Given the description of an element on the screen output the (x, y) to click on. 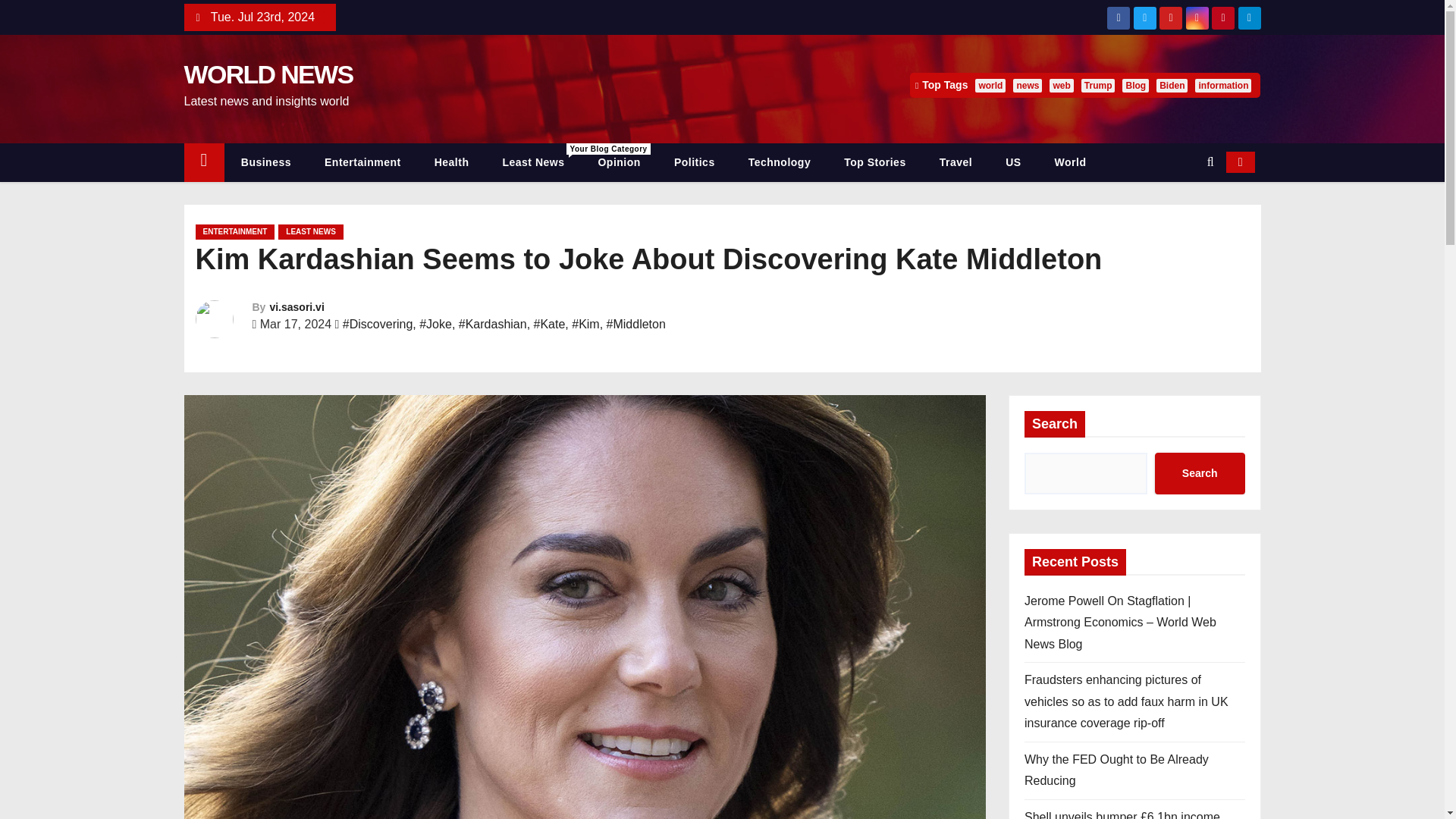
ENTERTAINMENT (235, 231)
LEAST NEWS (310, 231)
vi.sasori.vi (296, 306)
Travel (955, 162)
Technology (780, 162)
Politics (695, 162)
Health (451, 162)
world (990, 85)
World (1070, 162)
news (1027, 85)
Top Stories (874, 162)
Travel (955, 162)
Business (265, 162)
Business (265, 162)
Health (451, 162)
